Given the description of an element on the screen output the (x, y) to click on. 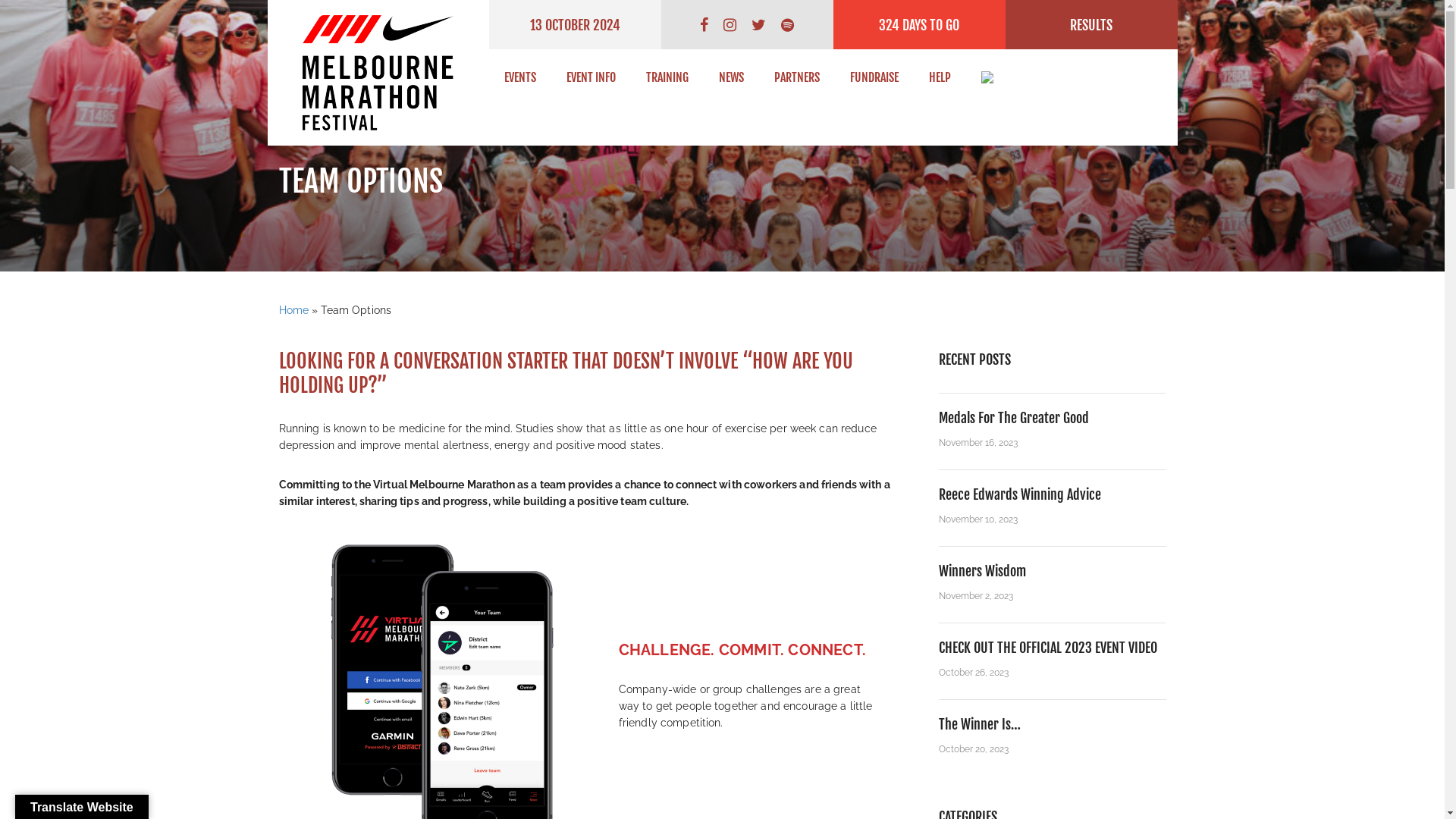
Spotify Element type: hover (787, 24)
Twitter Element type: hover (758, 24)
Home Element type: text (294, 310)
HELP Element type: text (939, 79)
EVENTS Element type: text (520, 79)
RESULTS Element type: text (1091, 24)
NEWS Element type: text (731, 79)
Instagram Element type: hover (729, 24)
Winners Wisdom Element type: text (982, 570)
Reece Edwards Winning Advice Element type: text (1019, 494)
PARTNERS Element type: text (796, 79)
CHECK OUT THE OFFICIAL 2023 EVENT VIDEO Element type: text (1047, 647)
FUNDRAISE Element type: text (873, 79)
Medals For The Greater Good Element type: text (1013, 417)
Melbourne Marathon Element type: hover (377, 72)
TRAINING Element type: text (666, 79)
Facebook Element type: hover (703, 24)
EVENT INFO Element type: text (590, 79)
Melbourne Marathon Element type: hover (378, 72)
